Given the description of an element on the screen output the (x, y) to click on. 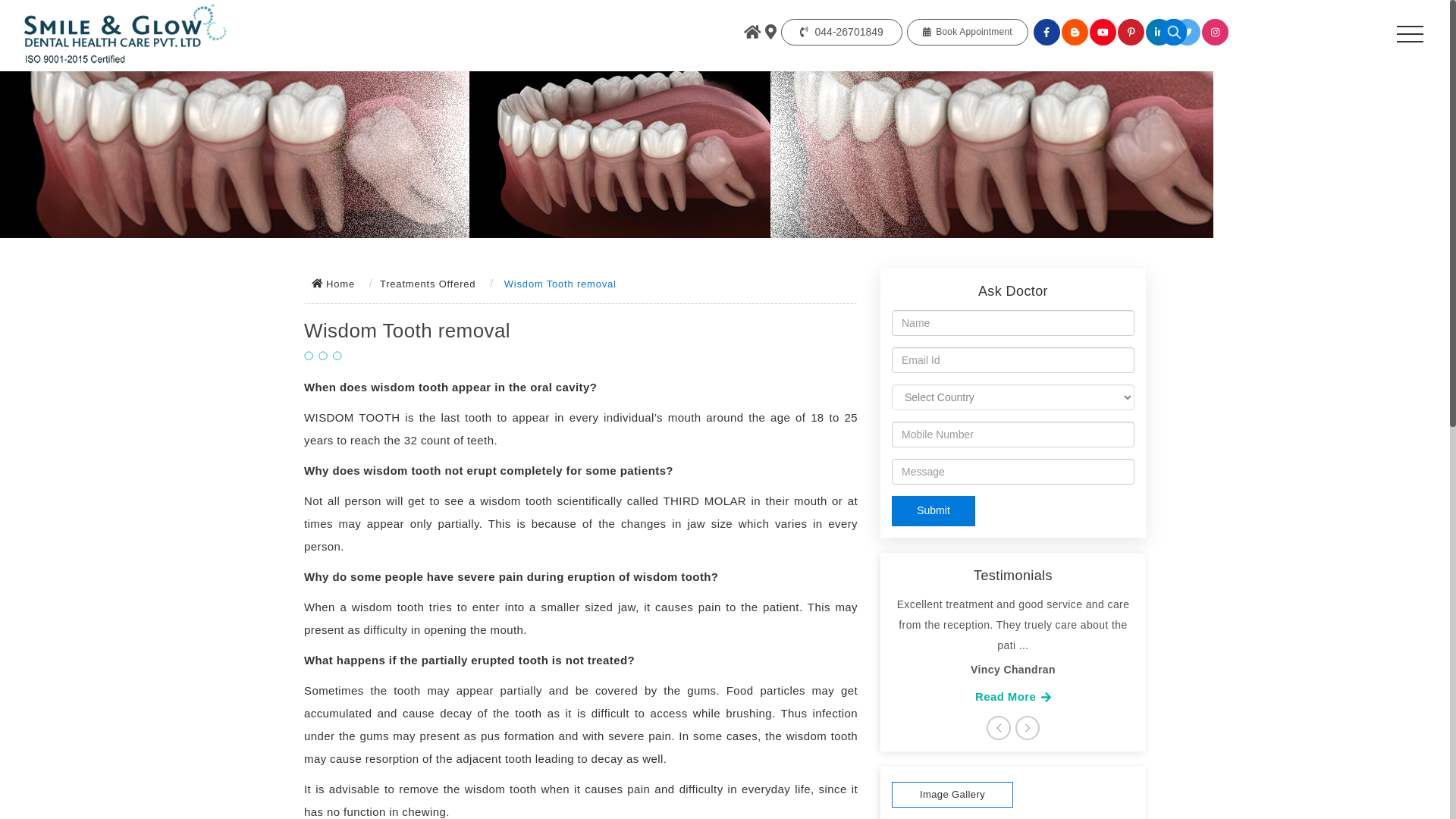
Book Appointment (967, 31)
044-26701849 (841, 31)
